Given the description of an element on the screen output the (x, y) to click on. 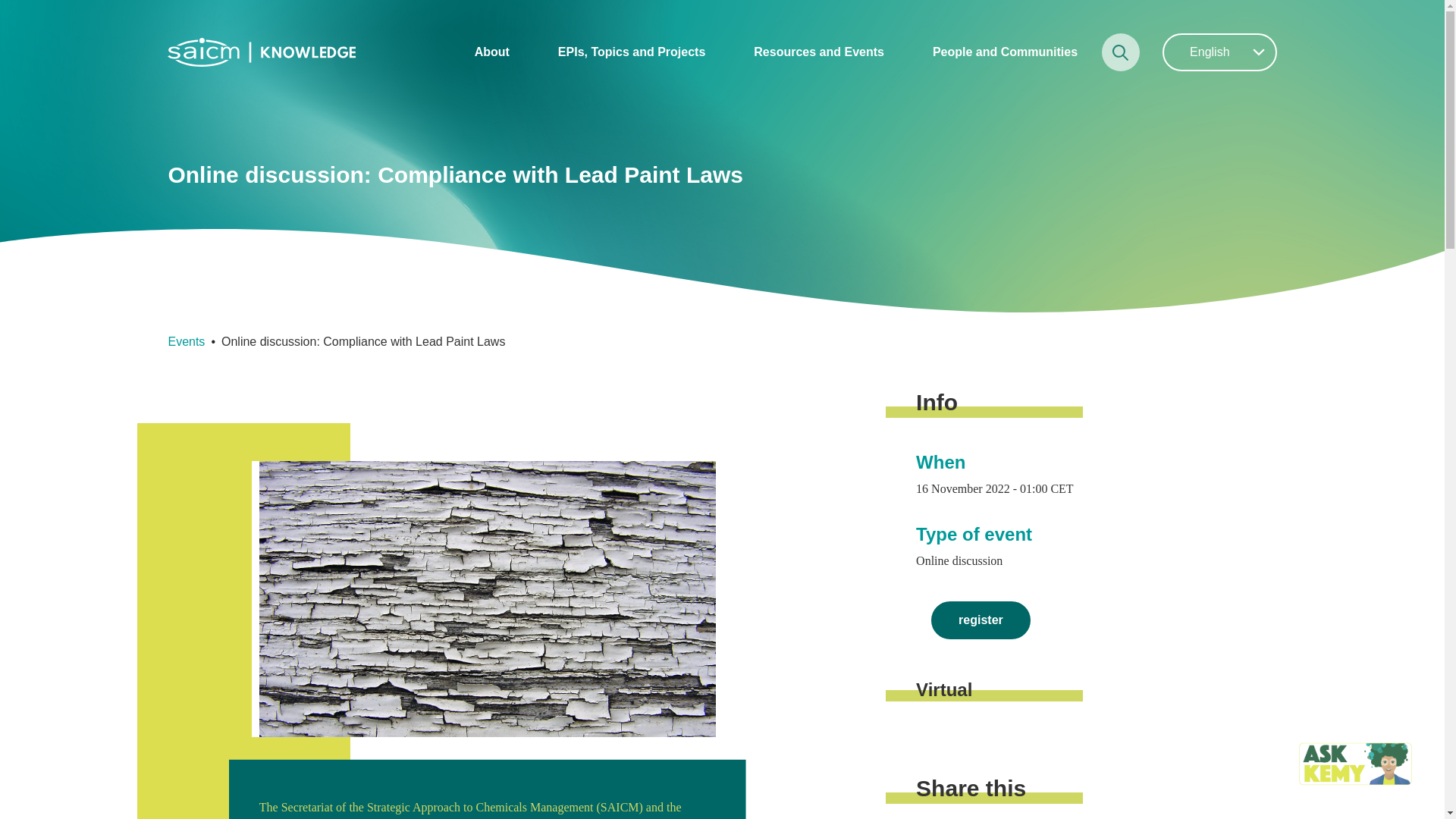
Emerging Policy Issues, topics, implementation (631, 52)
Library, Events, Articles (818, 52)
About (491, 52)
Home (261, 50)
